Given the description of an element on the screen output the (x, y) to click on. 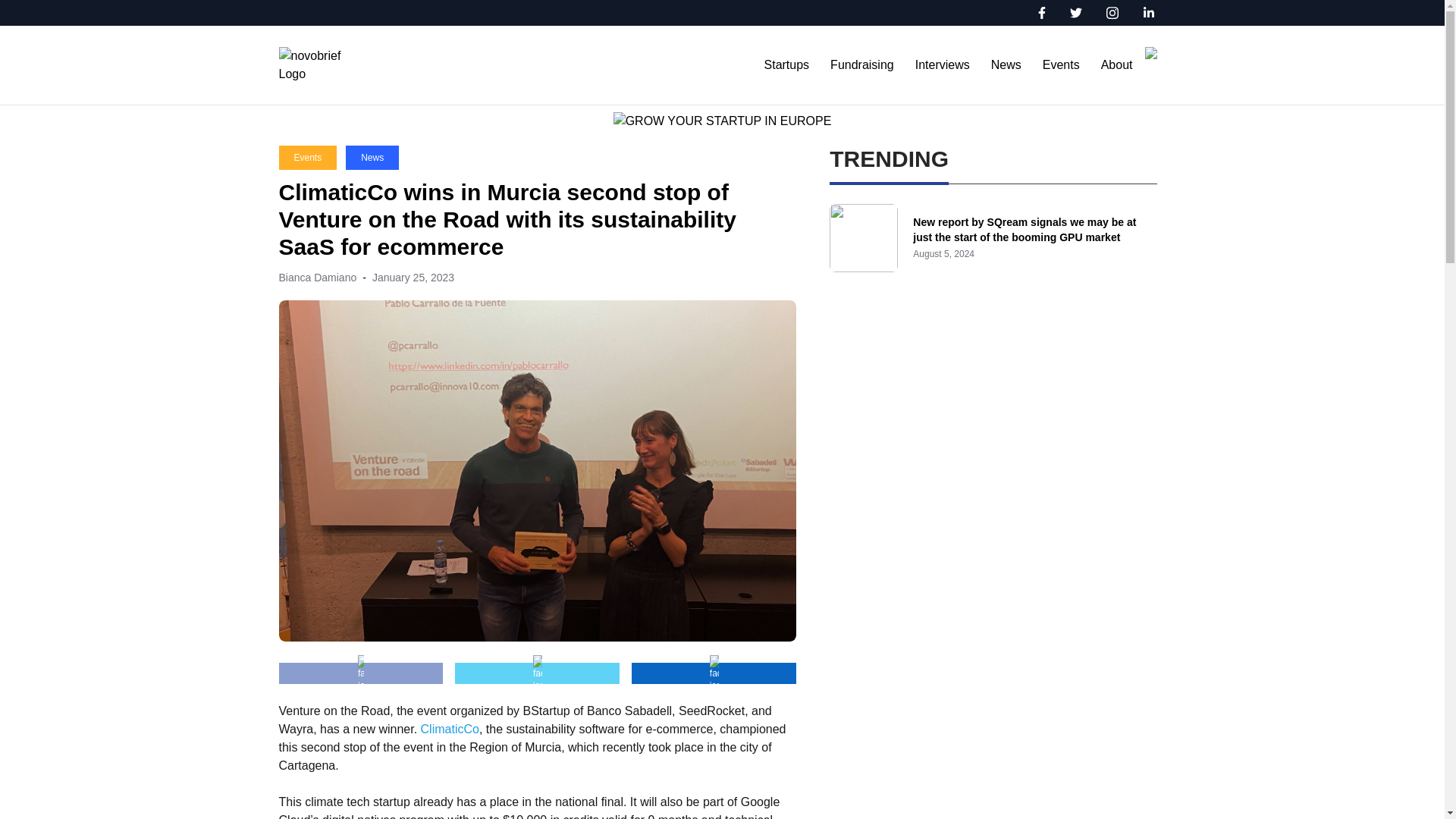
ClimaticCo (449, 728)
About (1116, 64)
News (372, 157)
Fundraising (861, 64)
News (1006, 64)
Bianca Damiano (317, 277)
Startups (786, 64)
Events (1061, 64)
Events (308, 157)
Interviews (942, 64)
